Given the description of an element on the screen output the (x, y) to click on. 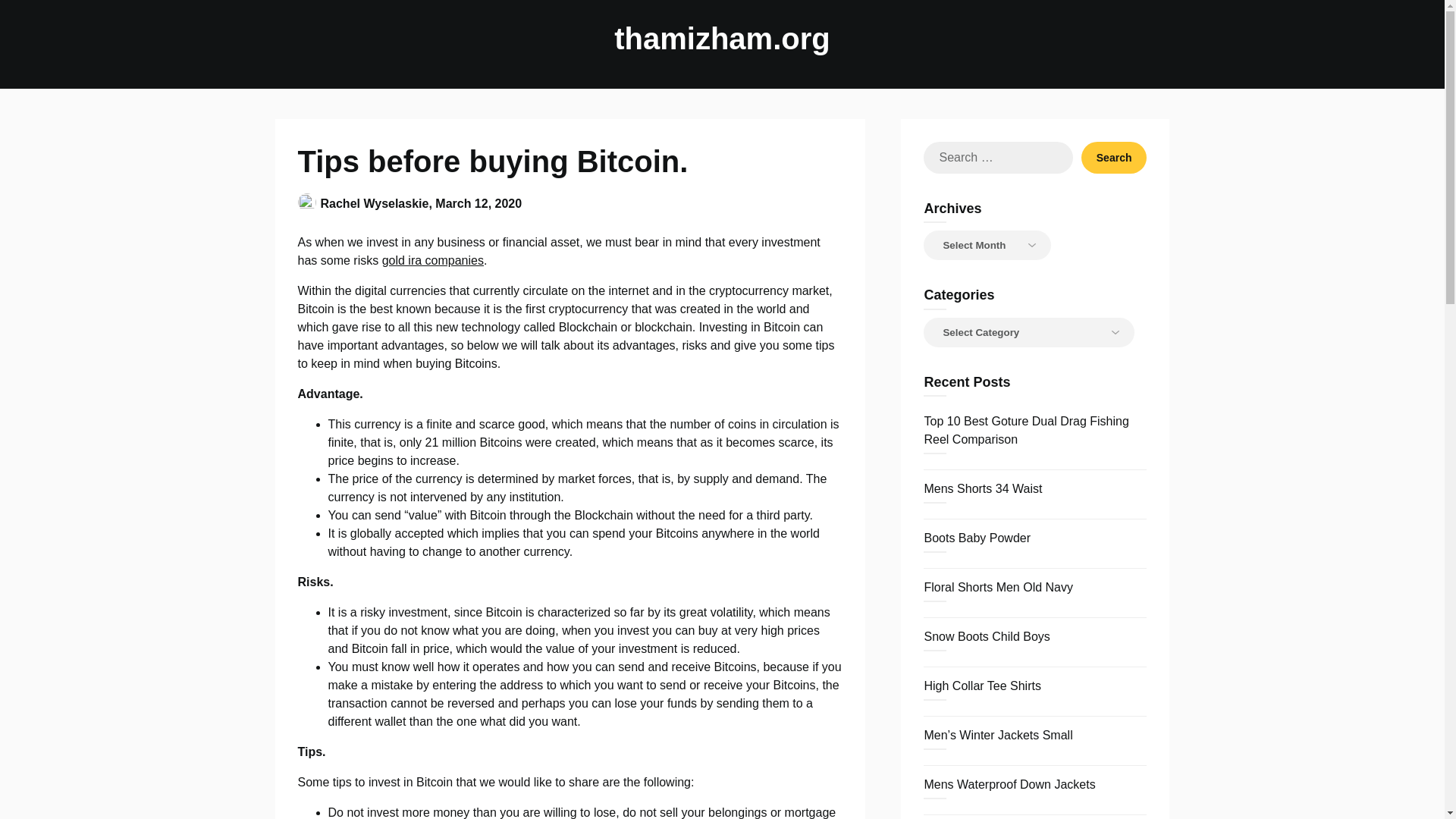
thamizham.org (722, 38)
High Collar Tee Shirts (982, 685)
Search (1114, 157)
March 12, 2020 (478, 203)
gold ira companies (432, 259)
Top 10 Best Goture Dual Drag Fishing Reel Comparison (1025, 429)
Boots Baby Powder (976, 537)
Mens Shorts 34 Waist (982, 488)
Search (1114, 157)
Floral Shorts Men Old Navy (998, 586)
